Given the description of an element on the screen output the (x, y) to click on. 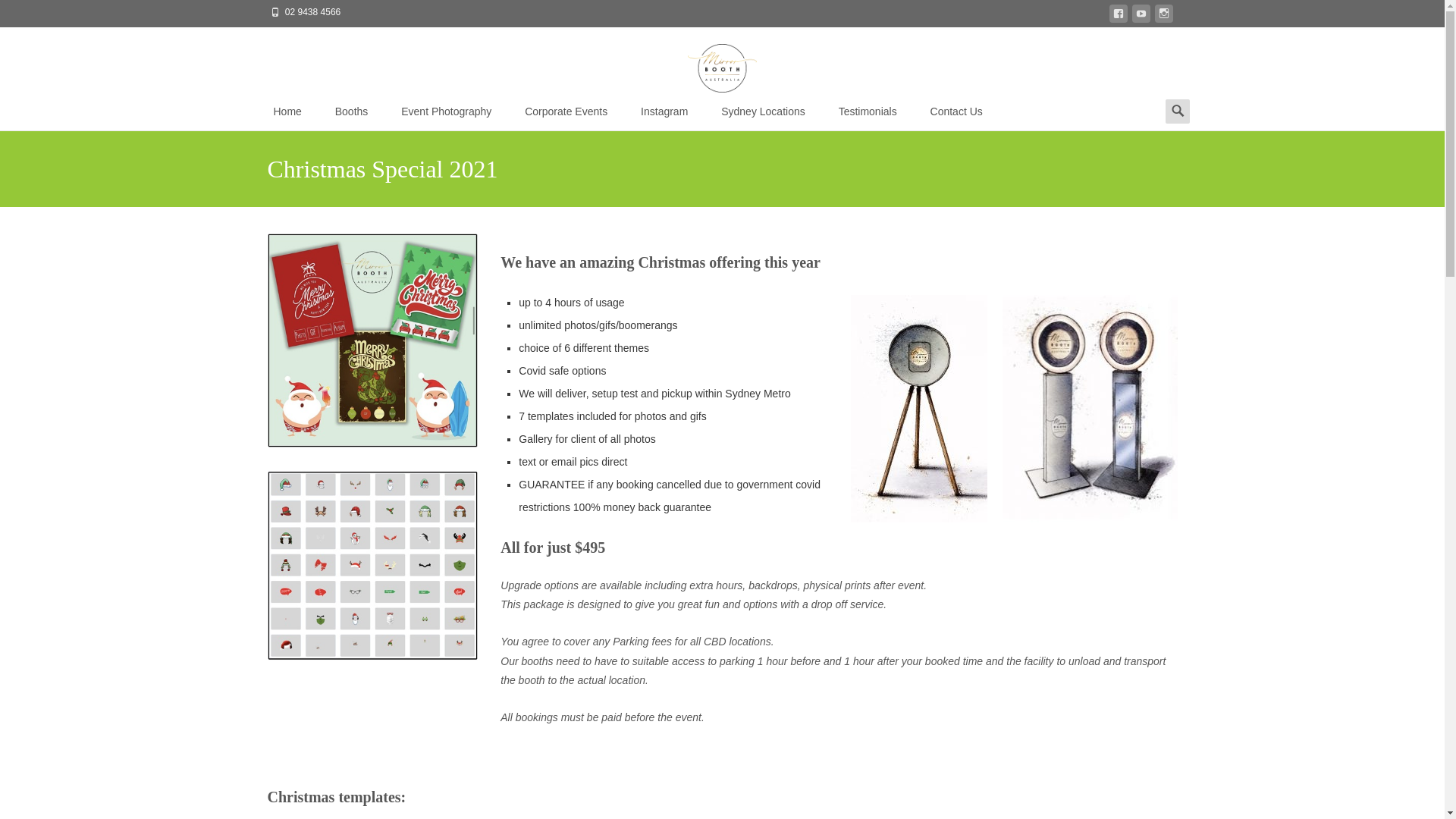
youtube (1140, 16)
Event Photography (446, 111)
Search (18, 14)
Booths (351, 111)
Search for: (1176, 111)
Instagram (663, 111)
facebook (1117, 16)
Contact Us (956, 111)
Mirror Booth Australia (722, 60)
Testimonials (867, 111)
Sydney Locations (762, 111)
Corporate Events (565, 111)
instagram (1163, 16)
